Given the description of an element on the screen output the (x, y) to click on. 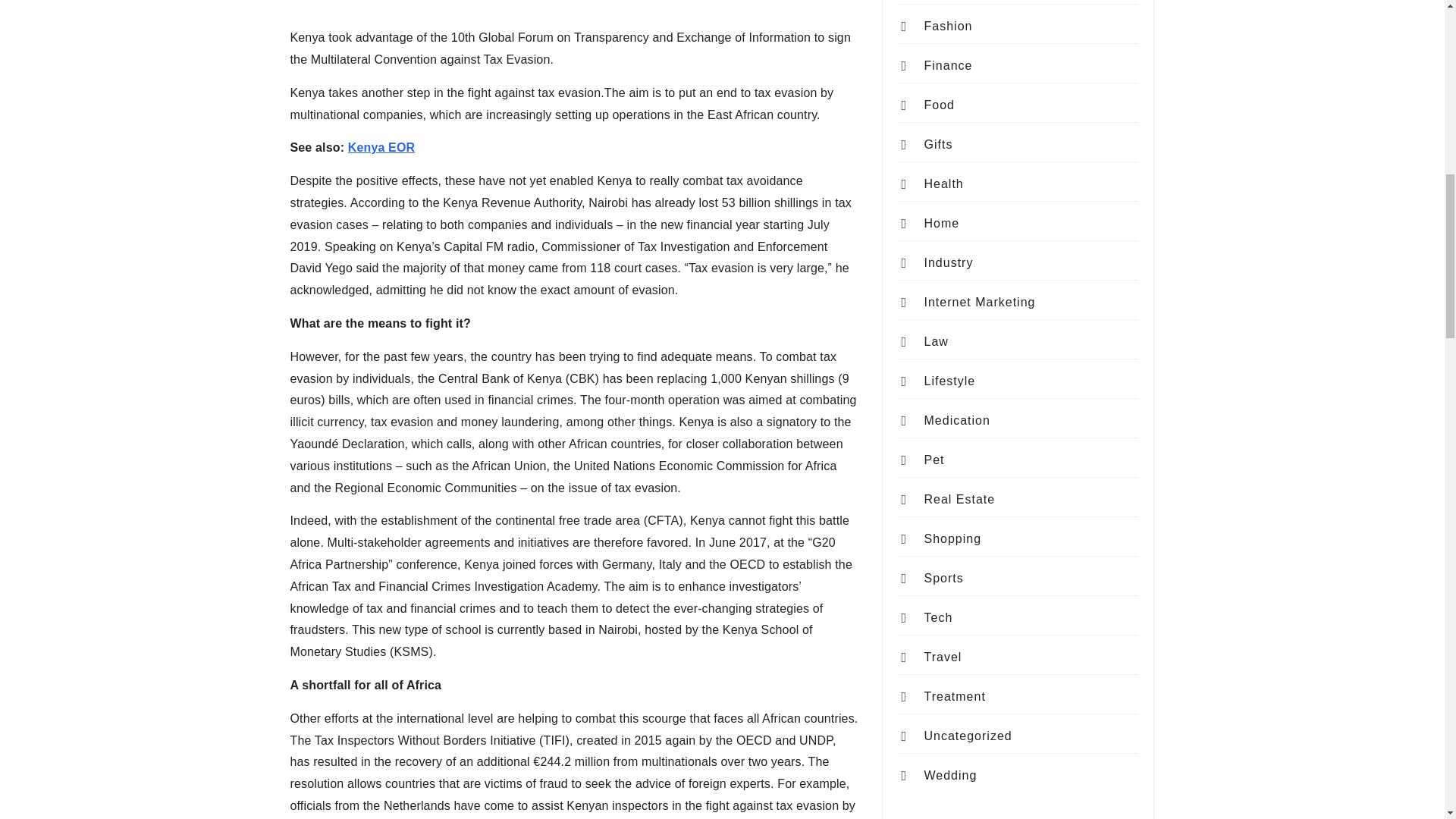
Kenya EOR (380, 146)
